Given the description of an element on the screen output the (x, y) to click on. 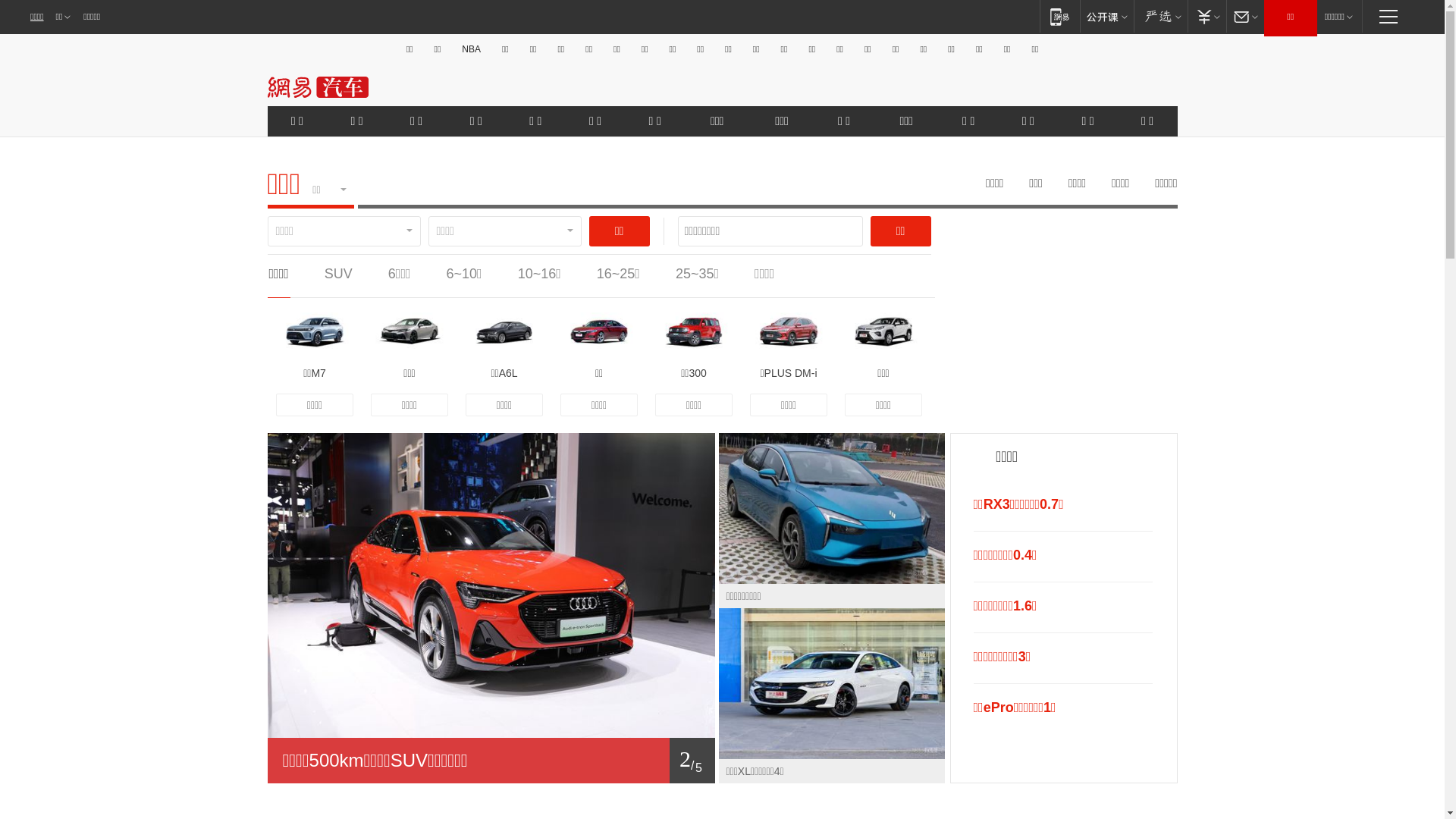
SUV Element type: text (338, 273)
NBA Element type: text (471, 48)
1/ 5 Element type: text (490, 760)
